Given the description of an element on the screen output the (x, y) to click on. 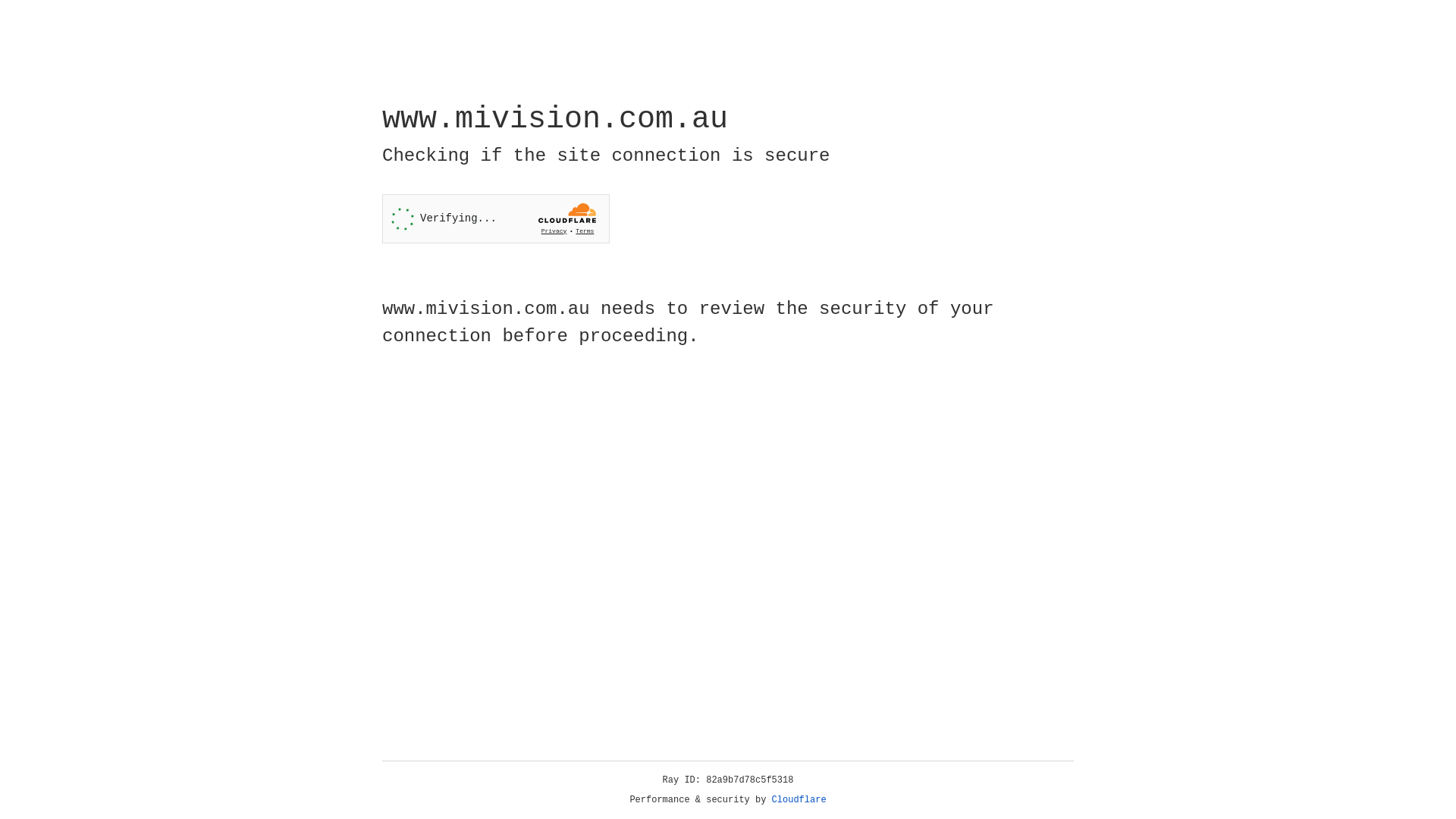
Widget containing a Cloudflare security challenge Element type: hover (495, 218)
Cloudflare Element type: text (798, 799)
